Given the description of an element on the screen output the (x, y) to click on. 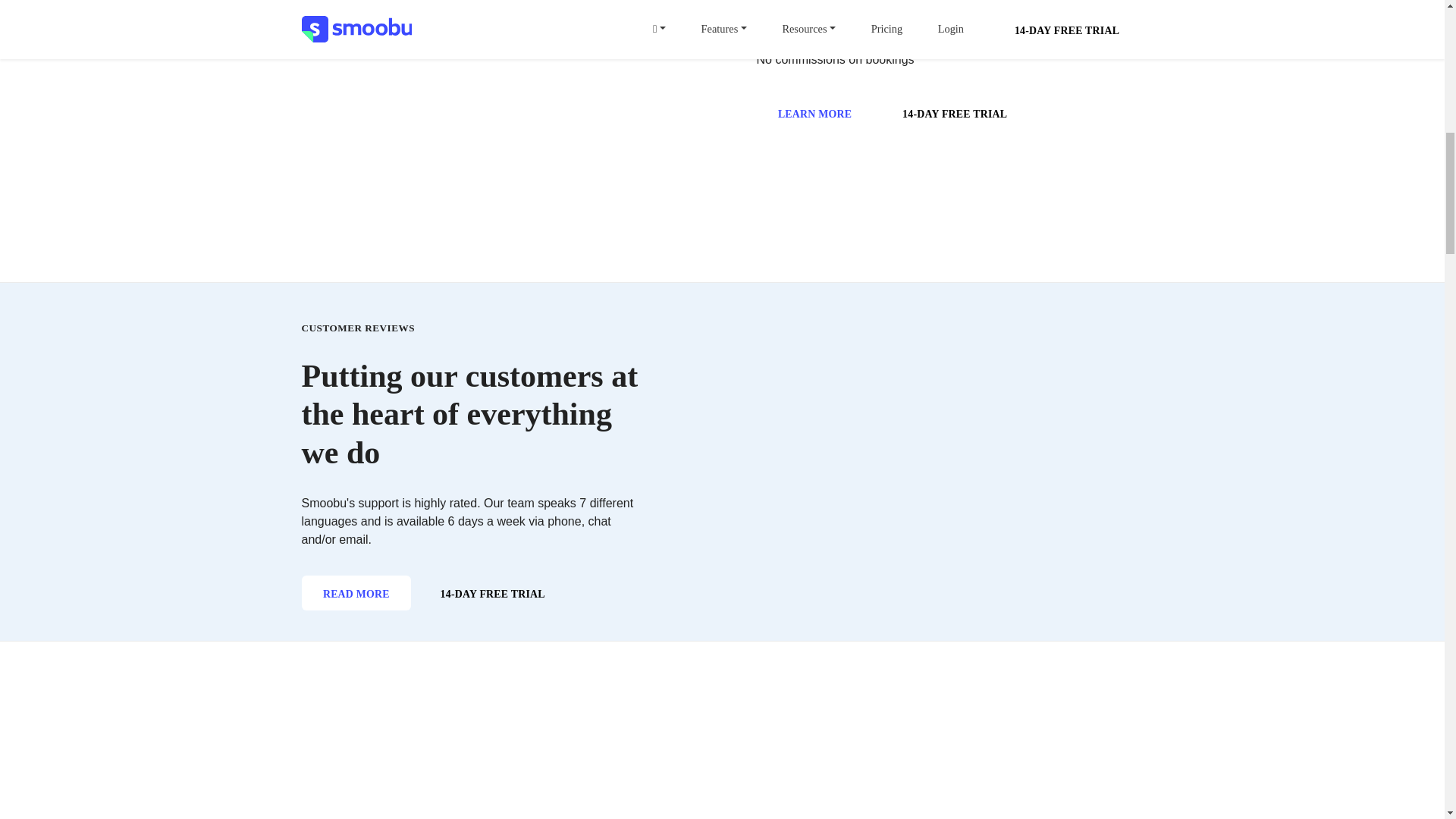
Read more (356, 592)
READ MORE (356, 592)
14-day free trial (954, 112)
LEARN MORE (815, 112)
14-day free trial (492, 592)
14-DAY FREE TRIAL (492, 592)
Learn more (815, 112)
14-DAY FREE TRIAL (954, 112)
